Given the description of an element on the screen output the (x, y) to click on. 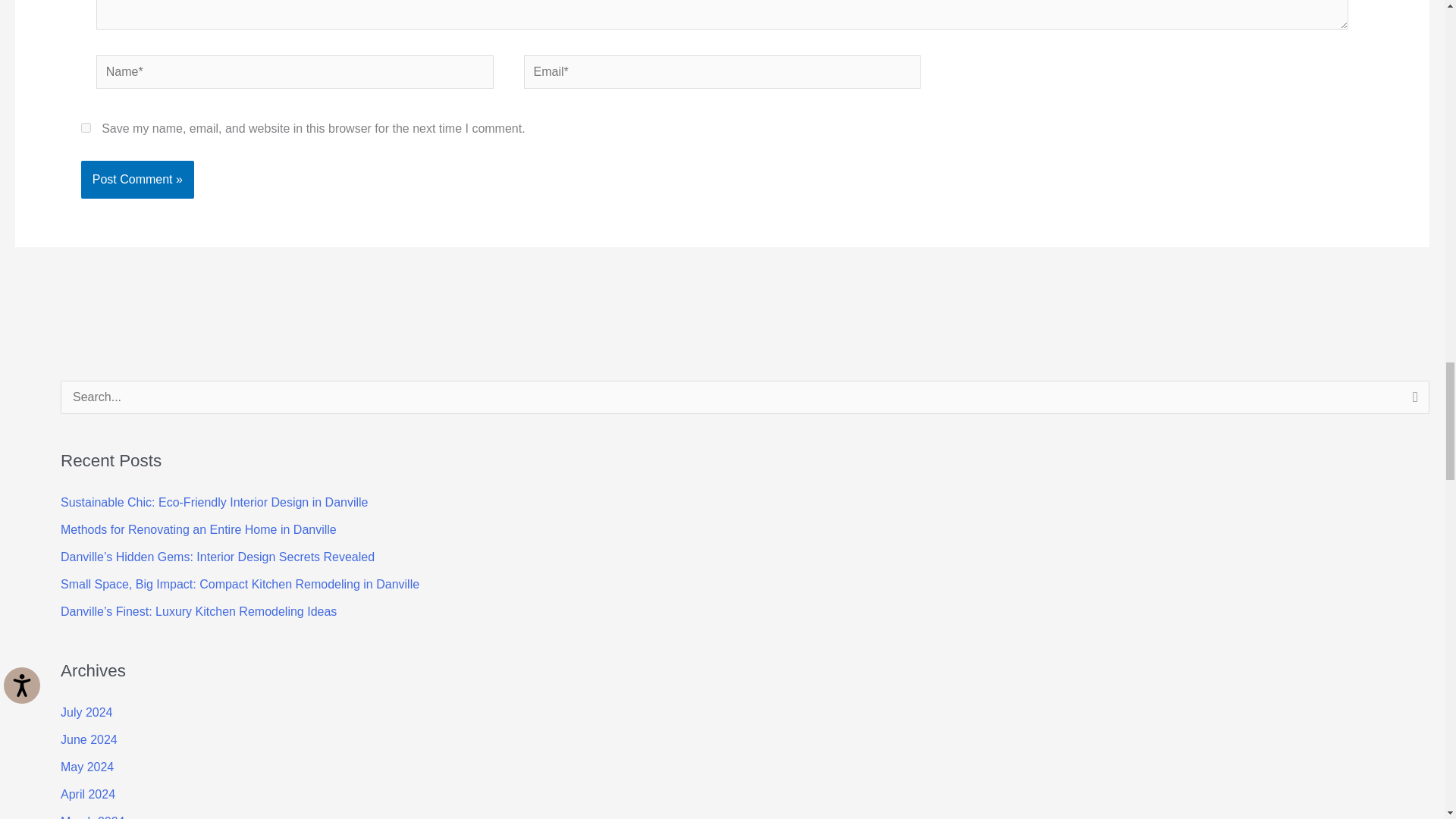
yes (85, 127)
